Given the description of an element on the screen output the (x, y) to click on. 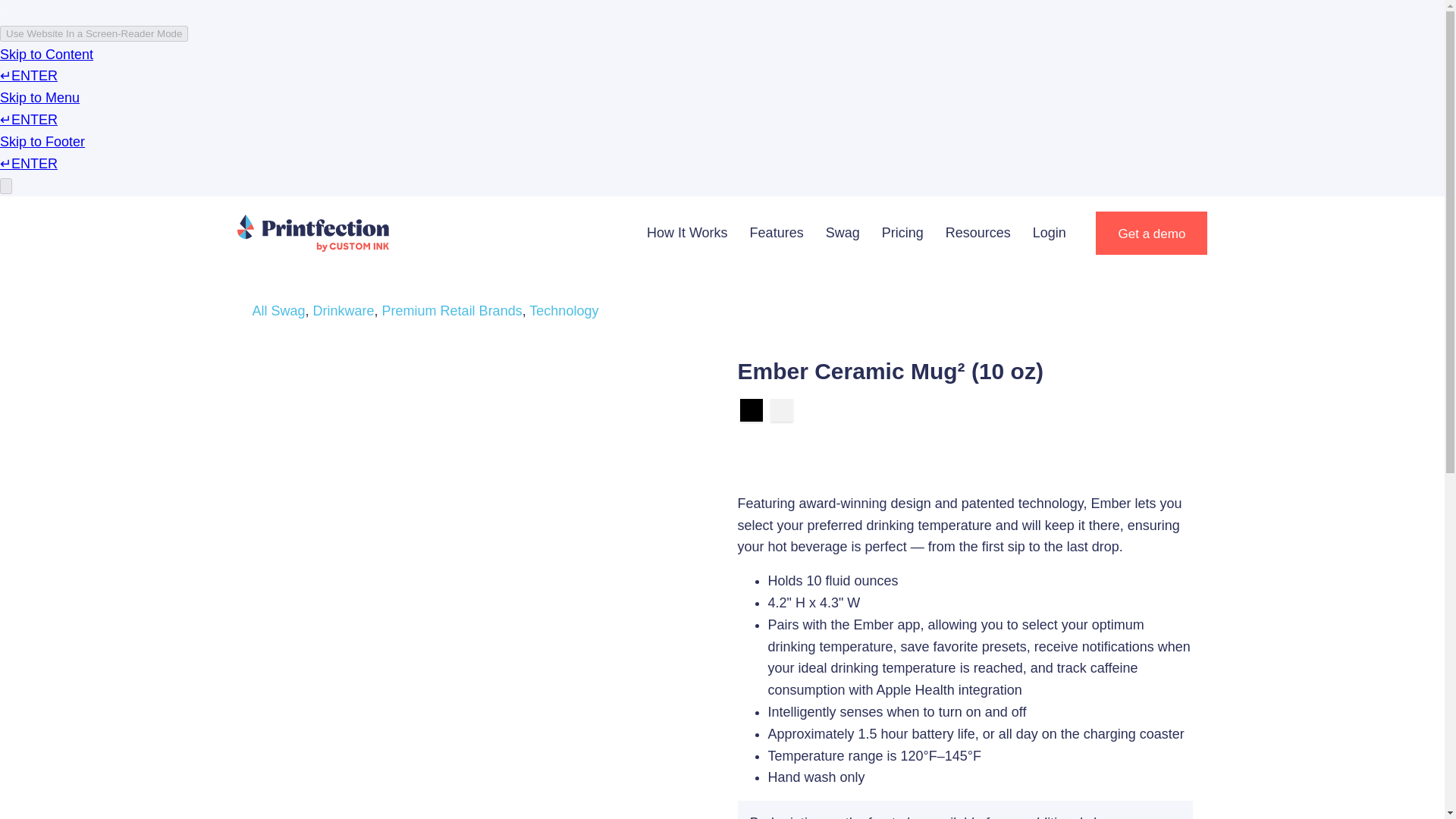
Swag (842, 232)
Login (1049, 232)
Features (776, 232)
Get a demo (1151, 232)
Resources (978, 232)
Pricing (902, 232)
How It Works (687, 232)
